Given the description of an element on the screen output the (x, y) to click on. 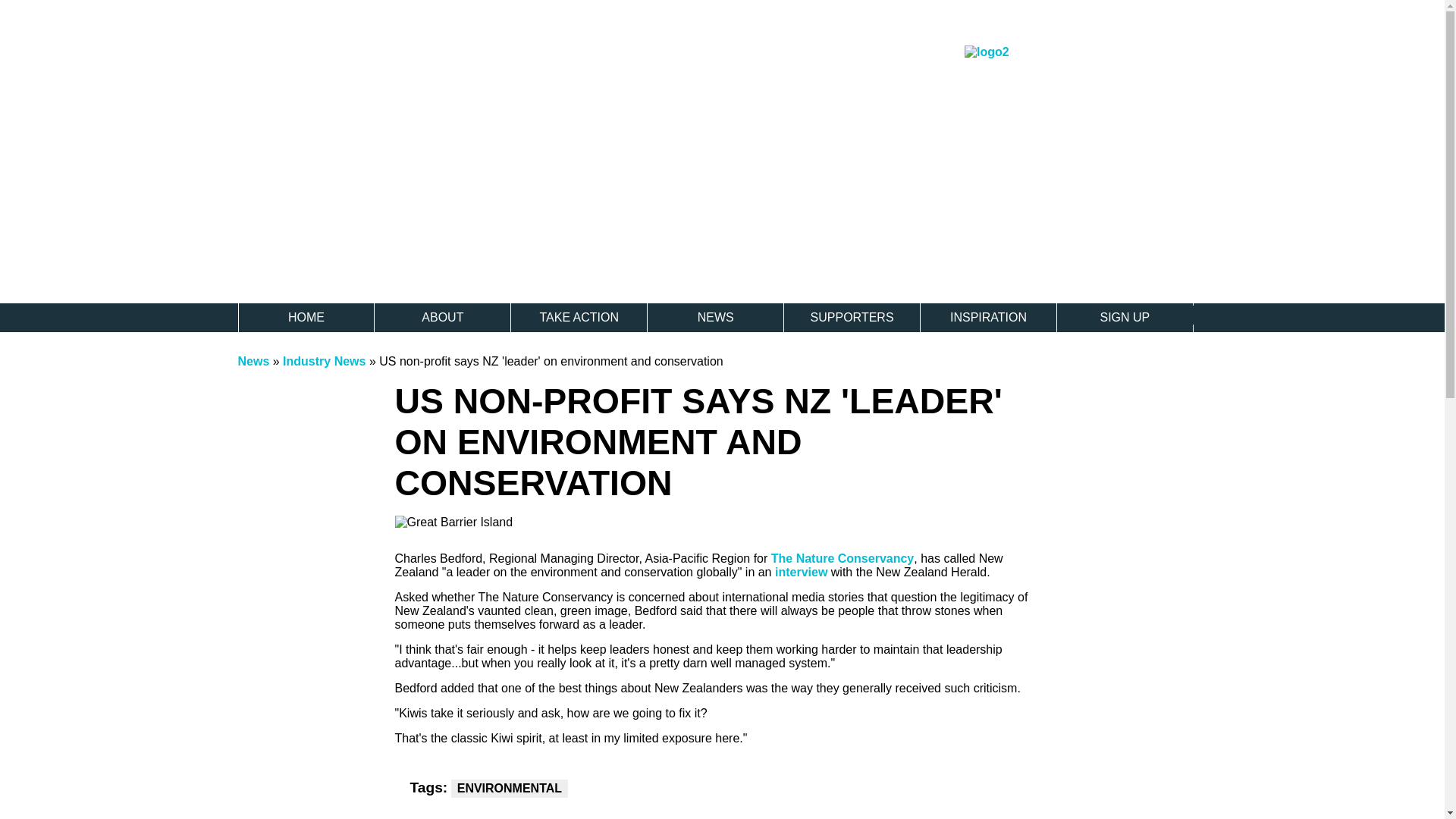
Industry News (325, 360)
HOME (306, 317)
Search (1194, 314)
Search (1194, 314)
ABOUT (442, 317)
TAKE ACTION (578, 317)
The Nature Conservancy (842, 558)
ENVIRONMENTAL (509, 788)
interview (800, 571)
NEWS (715, 317)
INSPIRATION (988, 317)
News (253, 360)
SUPPORTERS (852, 317)
SIGN UP (1124, 317)
